Given the description of an element on the screen output the (x, y) to click on. 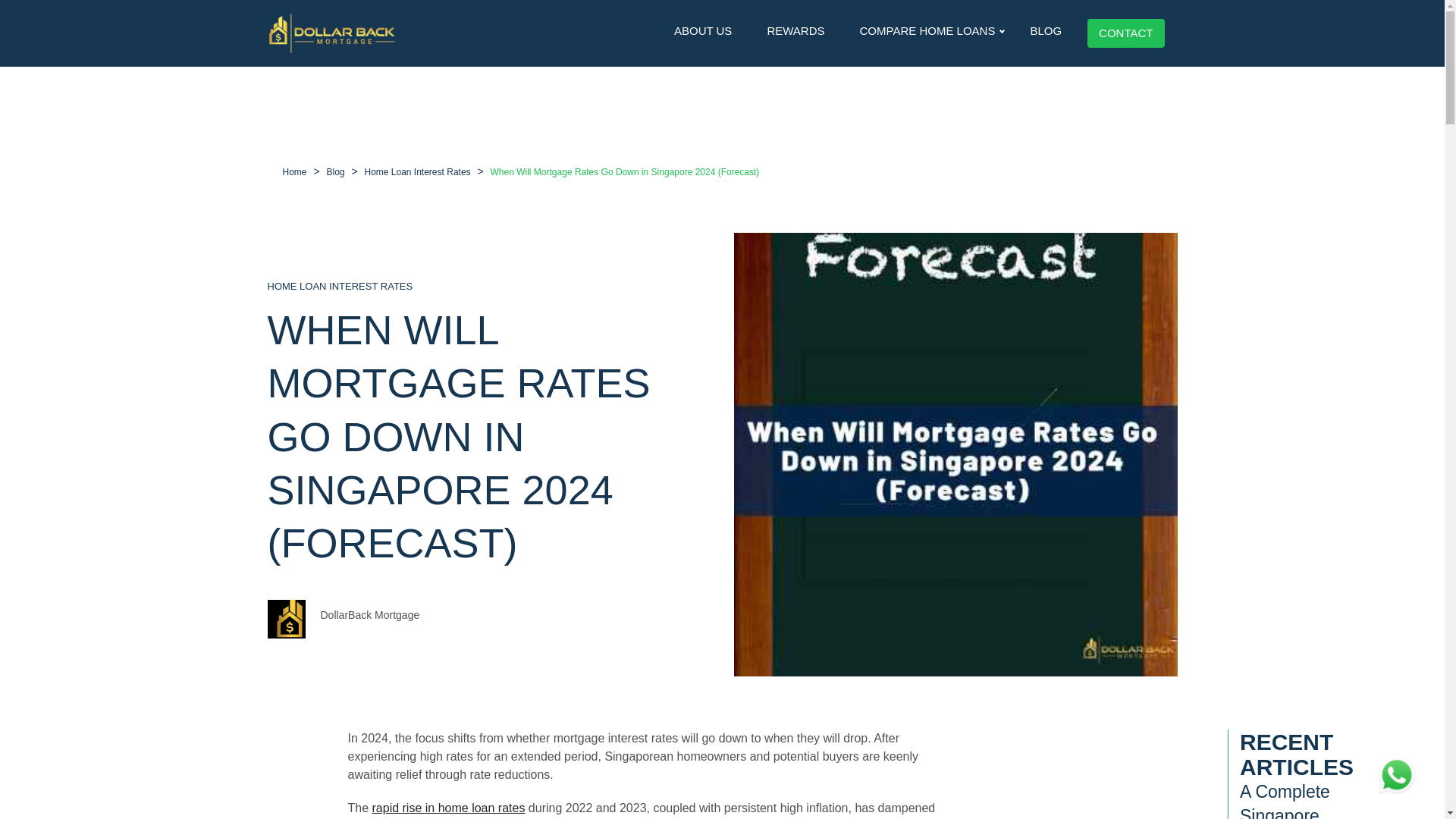
ABOUT US (703, 30)
REWARDS (794, 30)
Blog (334, 172)
Home Loan Interest Rates (417, 172)
CONTACT (1125, 32)
Home (293, 172)
COMPARE HOME LOANS (927, 30)
BLOG (1045, 30)
rapid rise in home loan rates (448, 807)
